Given the description of an element on the screen output the (x, y) to click on. 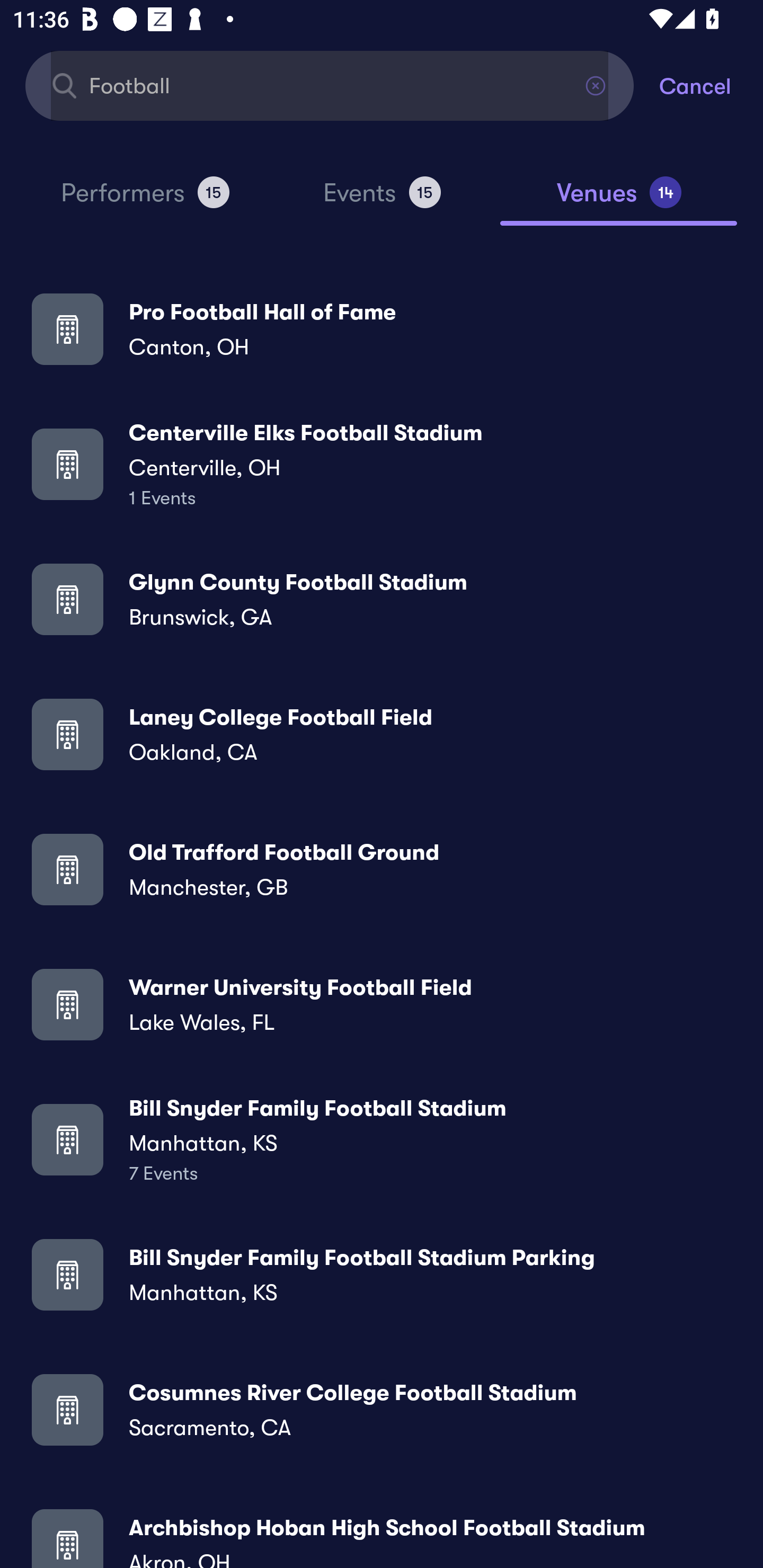
Football Find (329, 85)
Football Find (329, 85)
Cancel (711, 85)
Performers 15 (144, 200)
Events 15 (381, 200)
Venues 14 (618, 200)
Pro Football Hall of Fame Canton, OH (381, 328)
Glynn County Football Stadium Brunswick, GA (381, 598)
Laney College Football Field Oakland, CA (381, 734)
Old Trafford Football Ground Manchester, GB (381, 869)
Warner University Football Field Lake Wales, FL (381, 1004)
